Given the description of an element on the screen output the (x, y) to click on. 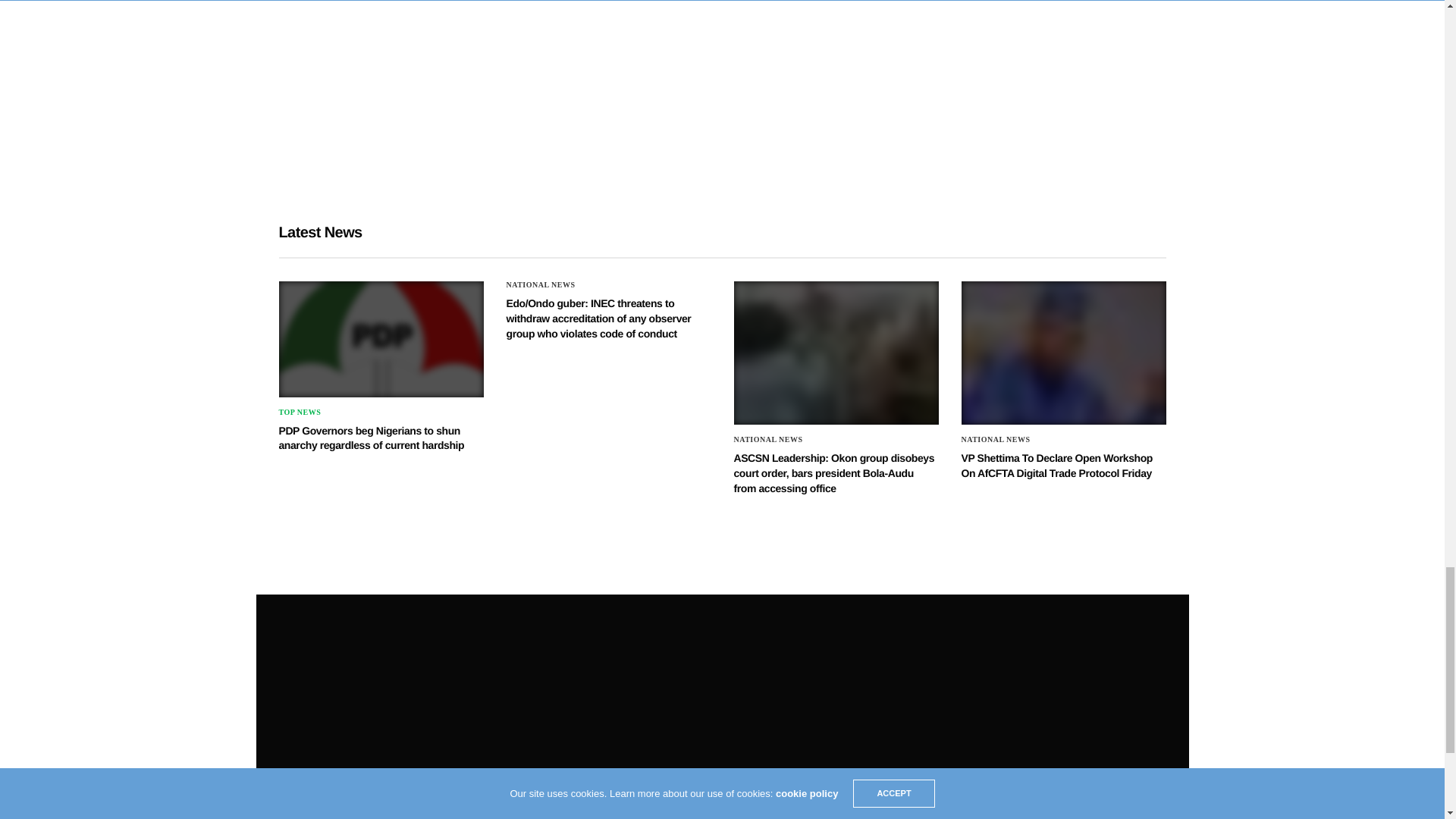
Advertisement (571, 93)
National News (540, 285)
Top News (300, 412)
